Given the description of an element on the screen output the (x, y) to click on. 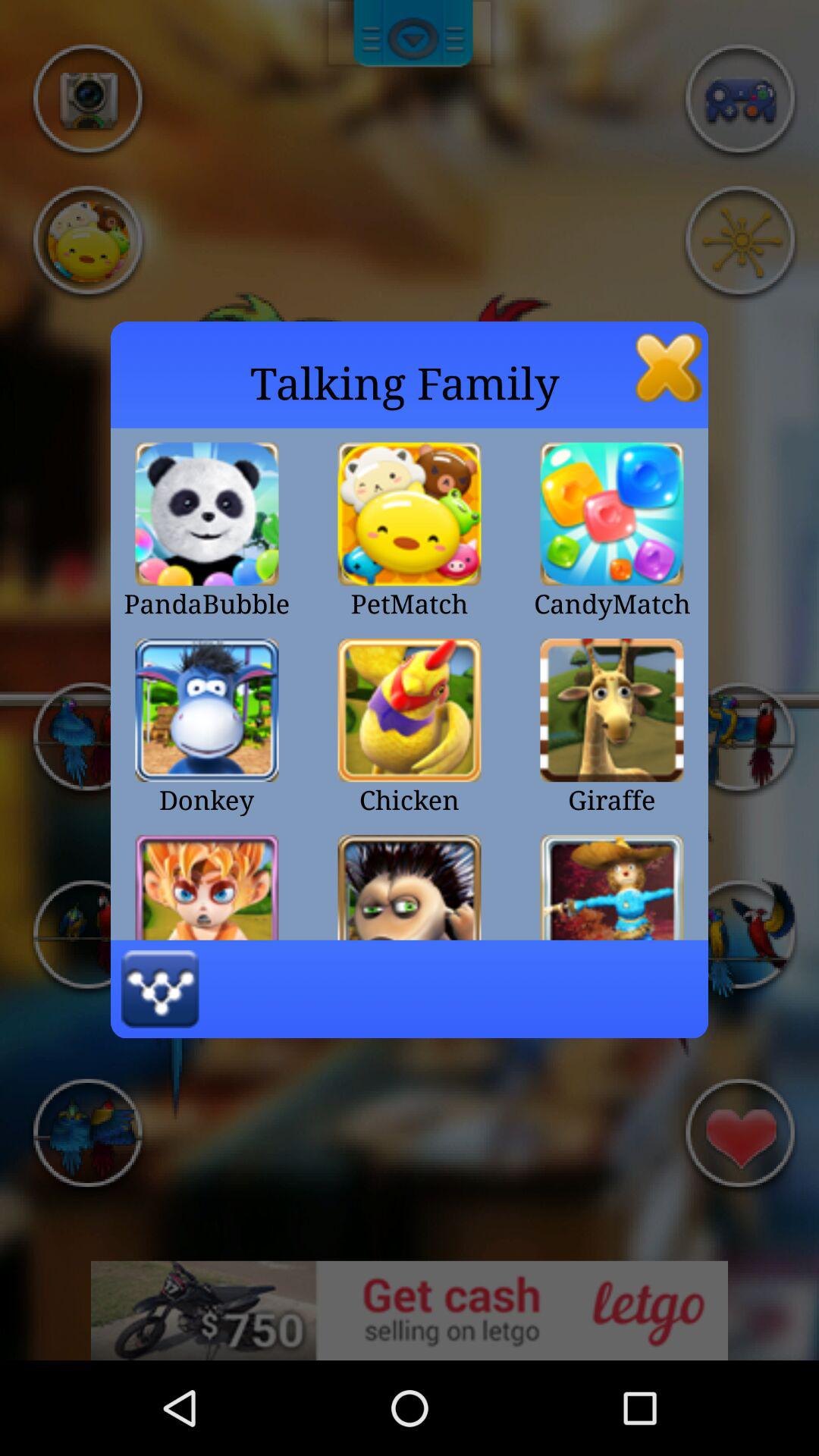
press the icon next to the talking family (668, 367)
